Given the description of an element on the screen output the (x, y) to click on. 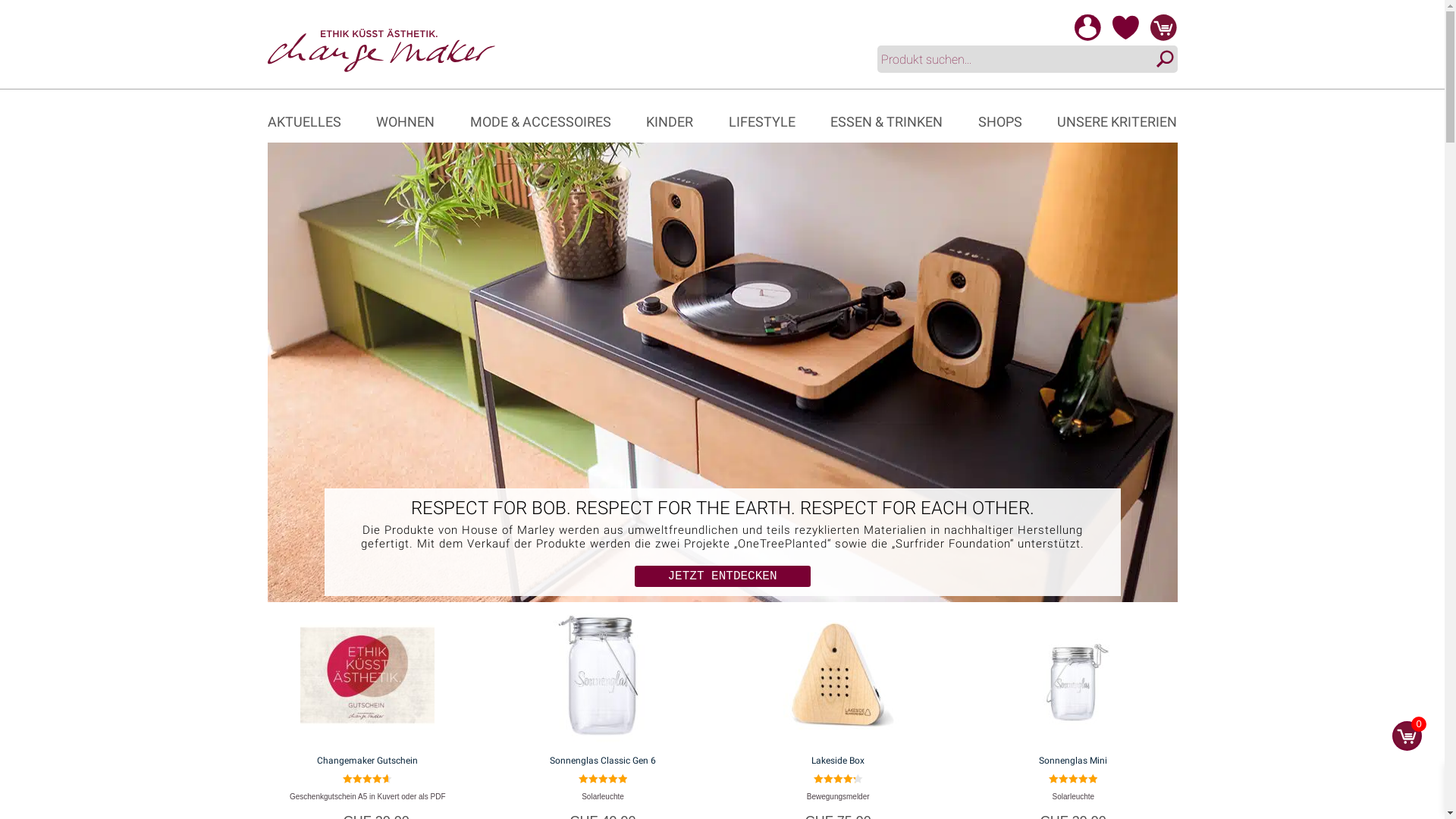
WOHNEN Element type: text (401, 121)
SHOPS Element type: text (996, 121)
UNSERE KRITERIEN Element type: text (1112, 121)
AKTUELLES Element type: text (303, 121)
Wunschliste Element type: hover (1124, 37)
JETZT ENTDECKEN Element type: text (721, 575)
Warenkorb anzeigen Element type: hover (1159, 37)
Changemaker Element type: hover (380, 50)
Changemaker Element type: hover (380, 49)
LIFESTYLE Element type: text (758, 121)
JETZT ENTDECKEN Element type: text (721, 575)
ESSEN & TRINKEN Element type: text (882, 121)
MODE & ACCESSOIRES Element type: text (536, 121)
KINDER Element type: text (665, 121)
